Given the description of an element on the screen output the (x, y) to click on. 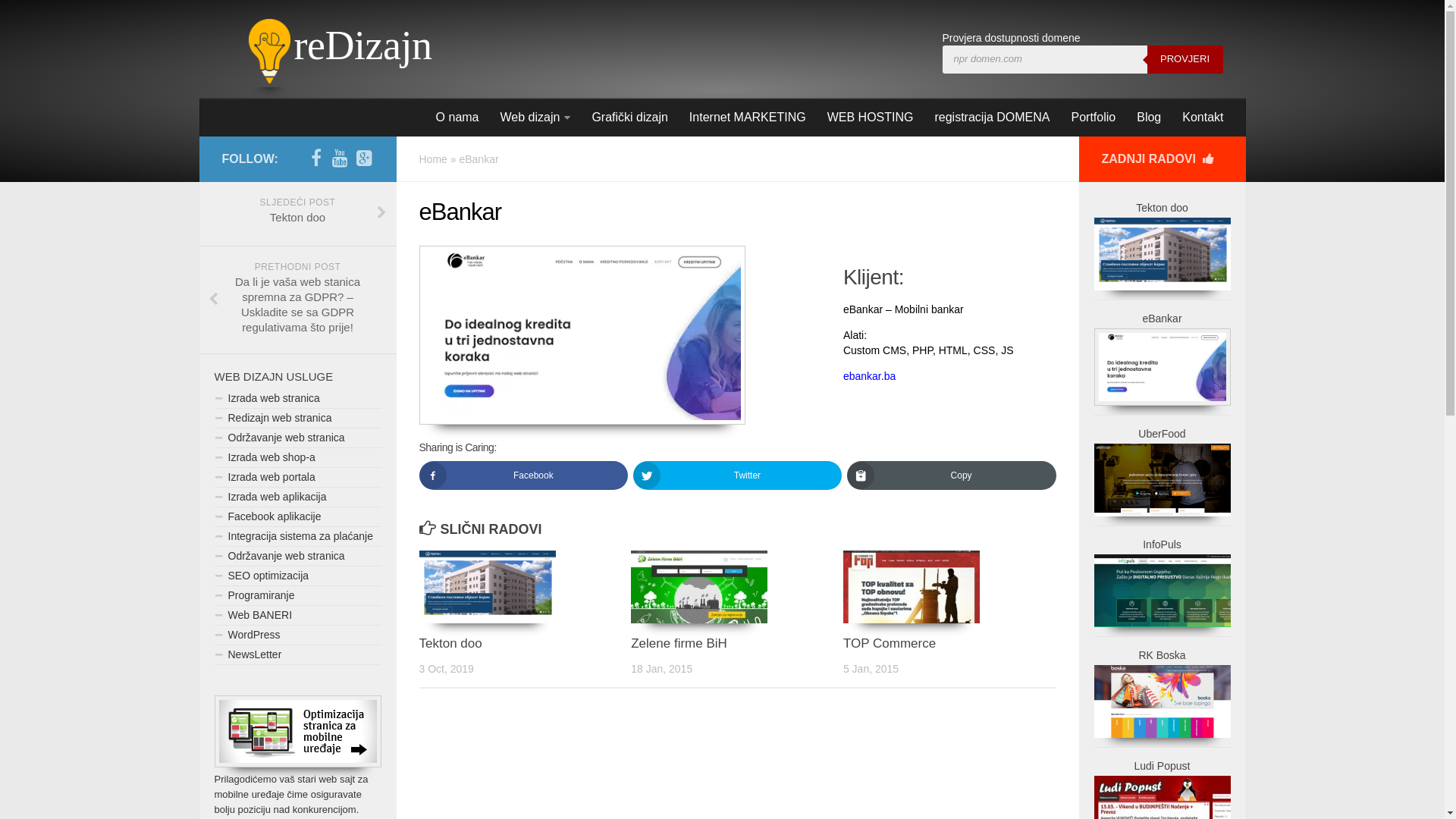
Home Element type: text (432, 159)
Tekton doo Element type: hover (524, 586)
Izrada web shop-a Element type: text (296, 457)
Web dizajn Element type: text (535, 117)
Zelene firme BiH Element type: text (678, 643)
ebankar.ba Element type: text (869, 376)
Facebook Element type: hover (315, 158)
eBankar Element type: text (1161, 318)
TOP Commerce Element type: hover (948, 586)
RK Boska Element type: hover (1161, 701)
O nama Element type: text (457, 116)
WEB HOSTING Element type: text (870, 116)
Izrada web aplikacija Element type: text (296, 497)
Ludi Popust Element type: text (1162, 765)
TOP Commerce Element type: text (889, 643)
Web BANERI Element type: text (296, 615)
Facebook aplikacije Element type: text (296, 517)
Redizajn web stranica Element type: text (296, 418)
RK Boska Element type: text (1161, 655)
Google+ Element type: hover (363, 158)
eBankar Element type: hover (1161, 366)
UberFood Element type: text (1161, 433)
Tekton doo Element type: hover (1161, 253)
Izrada web stranica Element type: text (296, 398)
reDizajn Element type: text (363, 45)
Tekton doo Element type: text (449, 643)
Izrada web portala Element type: text (296, 477)
Internet MARKETING Element type: text (747, 116)
Portfolio Element type: text (1093, 116)
InfoPuls Element type: text (1161, 544)
WordPress Element type: text (296, 635)
UberFood Element type: hover (1161, 479)
PROVJERI Element type: text (1184, 59)
Programiranje Element type: text (296, 595)
InfoPuls Element type: hover (1161, 590)
Tekton doo Element type: text (1161, 207)
Blog Element type: text (1148, 116)
Kontakt Element type: text (1202, 116)
registracija DOMENA Element type: text (991, 116)
Zelene firme BiH Element type: hover (736, 586)
NewsLetter Element type: text (296, 655)
SEO optimizacija Element type: text (296, 576)
YouTube Element type: hover (339, 158)
